Given the description of an element on the screen output the (x, y) to click on. 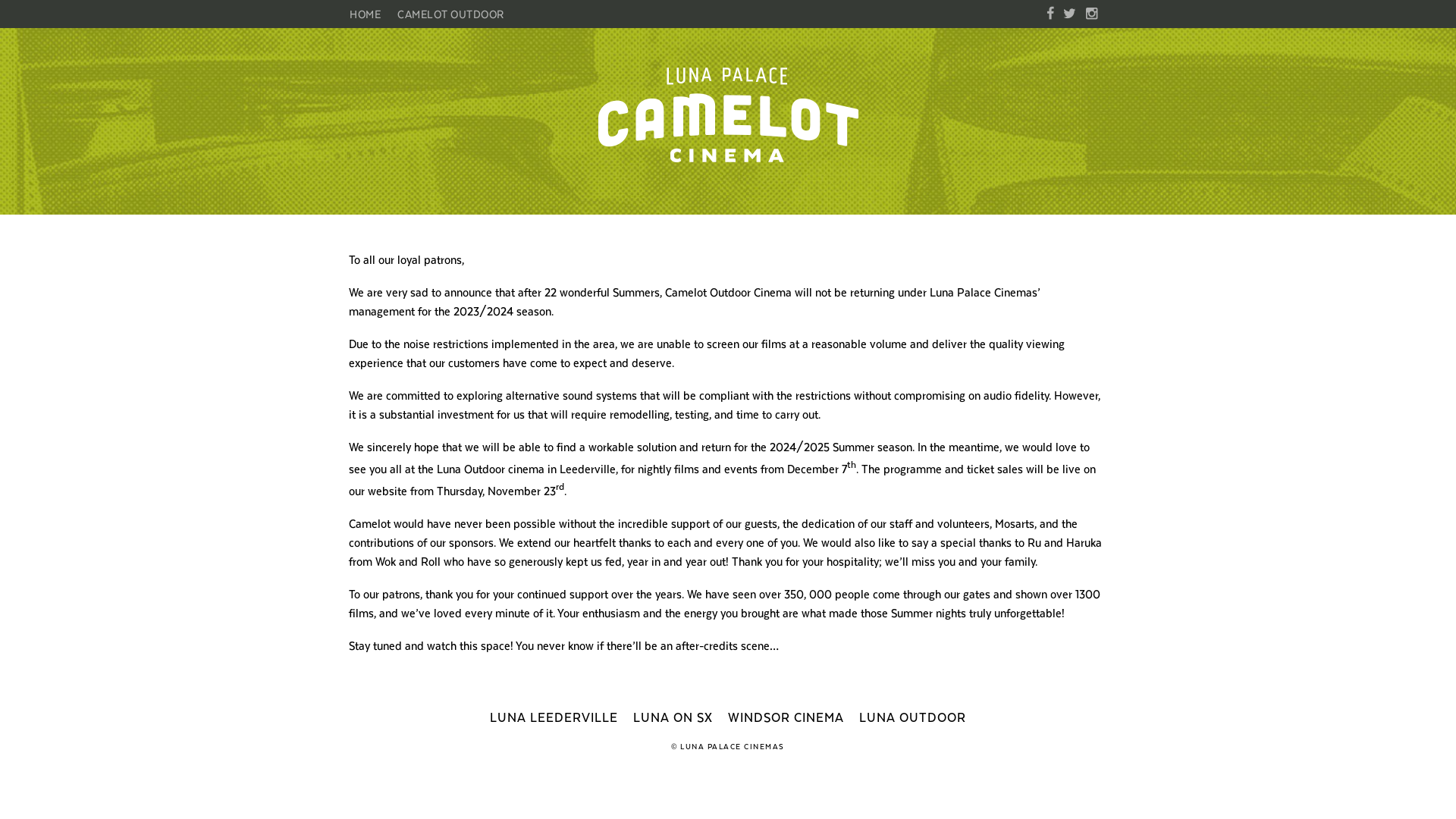
Follow us on Instagram Element type: hover (1091, 13)
CAMELOT OUTDOOR Element type: text (450, 13)
WINDSOR CINEMA Element type: text (785, 716)
LUNA ON SX Element type: text (672, 716)
LUNA OUTDOOR Element type: text (912, 716)
Follow us on Twitter Element type: hover (1069, 13)
HOME Element type: text (369, 13)
Follow us on Facebook Element type: hover (1049, 13)
LUNA LEEDERVILLE Element type: text (553, 716)
